Given the description of an element on the screen output the (x, y) to click on. 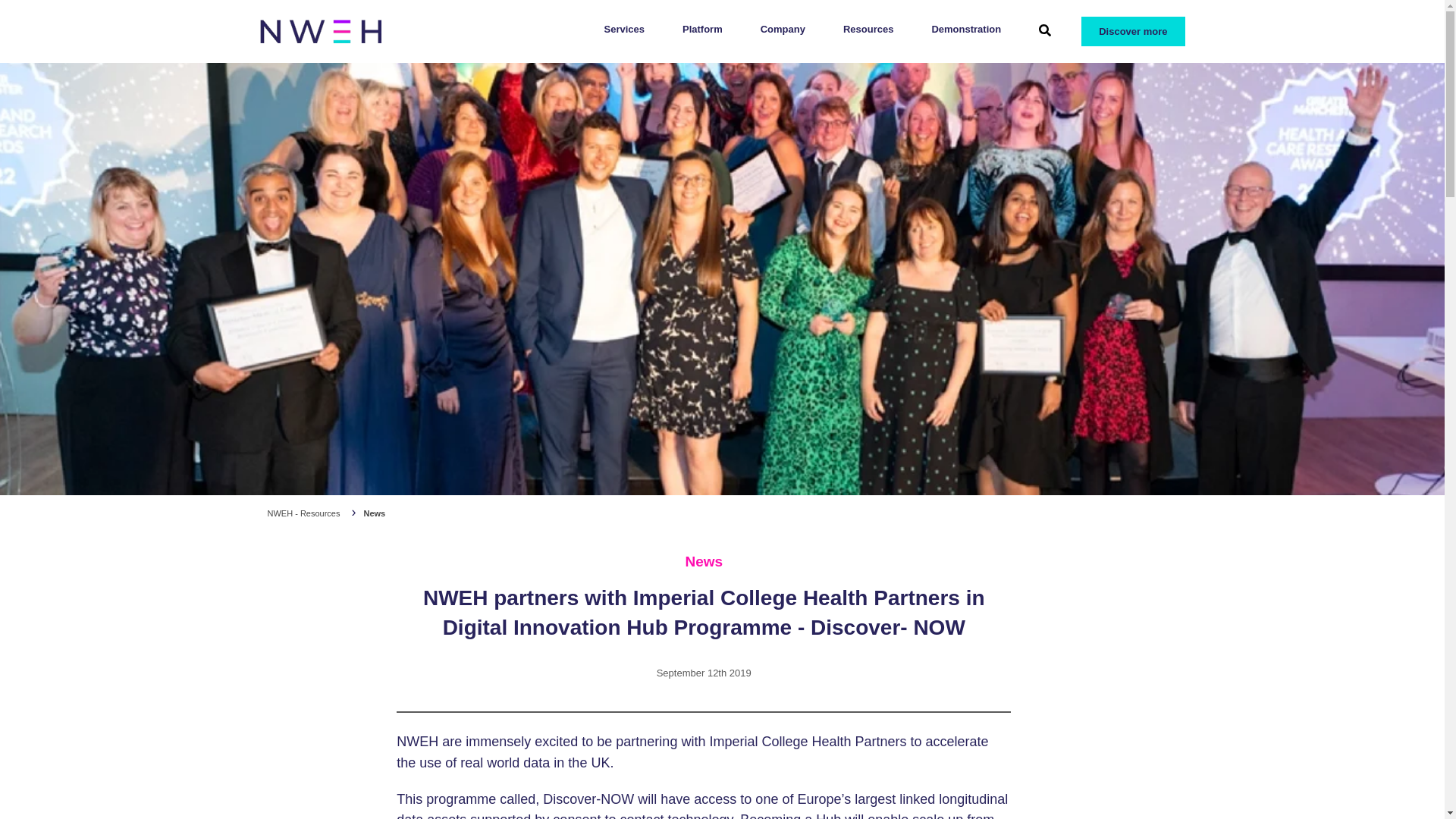
Services (624, 29)
Demonstration (966, 29)
Company (782, 29)
Platform (702, 29)
NWEH (319, 31)
Resources (868, 29)
Discover more (1127, 31)
